Given the description of an element on the screen output the (x, y) to click on. 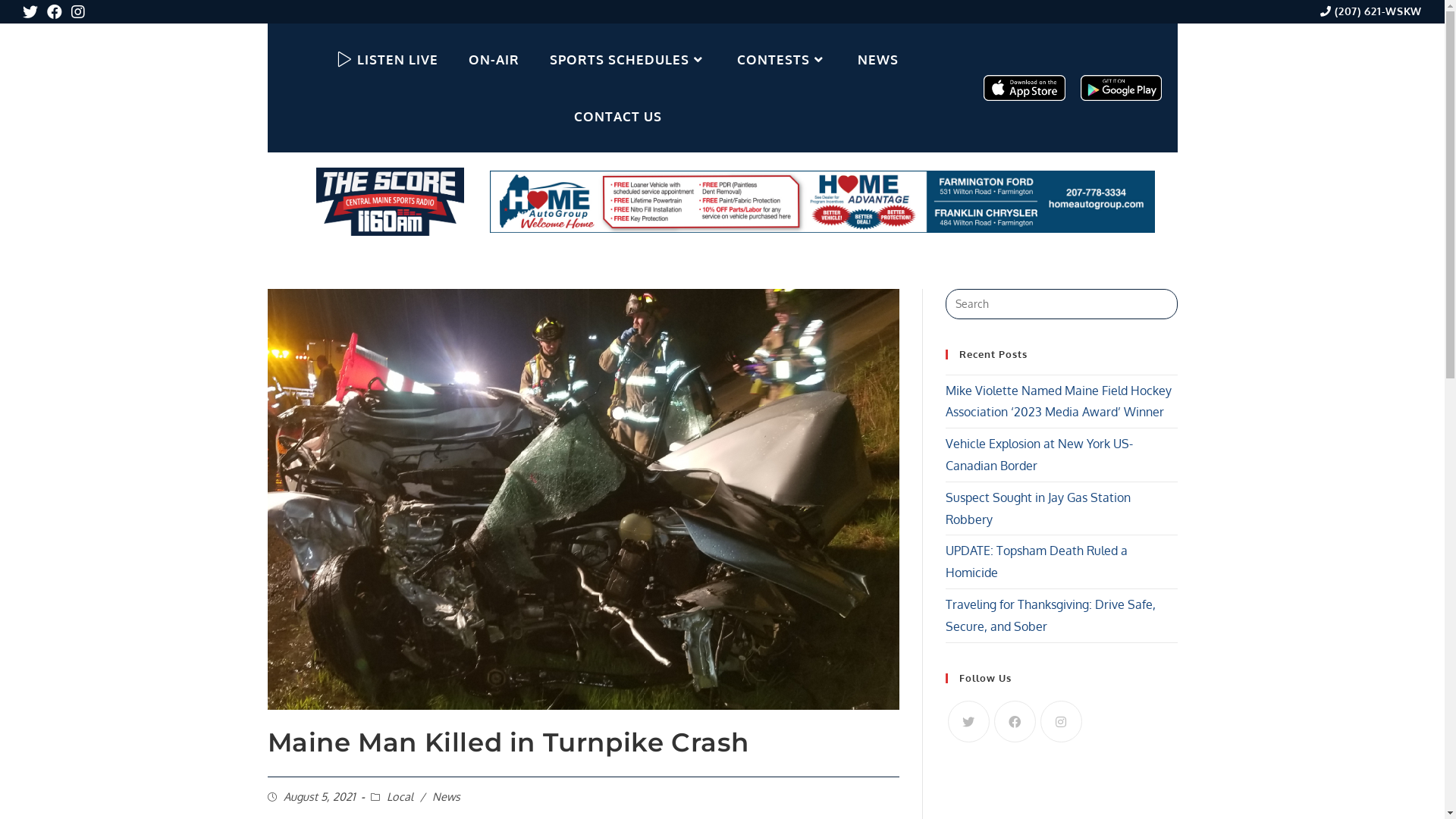
Traveling for Thanksgiving: Drive Safe, Secure, and Sober Element type: text (1049, 614)
ON-AIR Element type: text (493, 59)
NEWS Element type: text (877, 59)
CONTACT US Element type: text (617, 115)
Local Element type: text (399, 796)
LISTEN LIVE Element type: text (387, 59)
CONTESTS Element type: text (781, 59)
News Element type: text (446, 796)
SPORTS SCHEDULES Element type: text (627, 59)
Vehicle Explosion at New York US-Canadian Border Element type: text (1038, 454)
UPDATE: Topsham Death Ruled a Homicide Element type: text (1035, 561)
Suspect Sought in Jay Gas Station Robbery Element type: text (1036, 508)
